Given the description of an element on the screen output the (x, y) to click on. 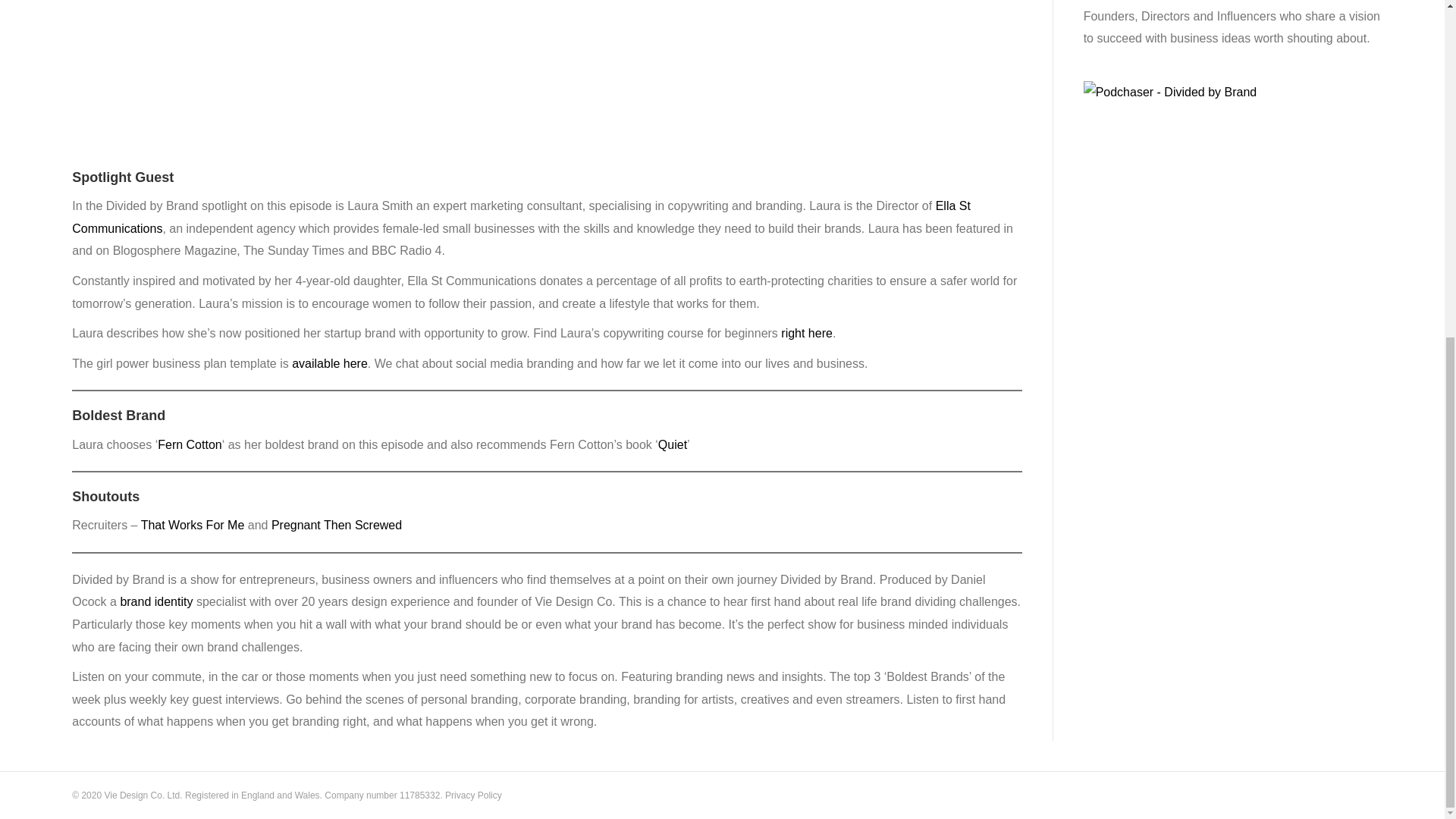
Privacy Policy  (473, 795)
Pregnant Then Screwed (335, 524)
Quiet (672, 444)
Ella St Communications (521, 217)
Fern Cotton (189, 444)
right here (806, 332)
That Works For Me (192, 524)
Privacy Policy (473, 795)
brand identity (155, 601)
available here (330, 363)
